Given the description of an element on the screen output the (x, y) to click on. 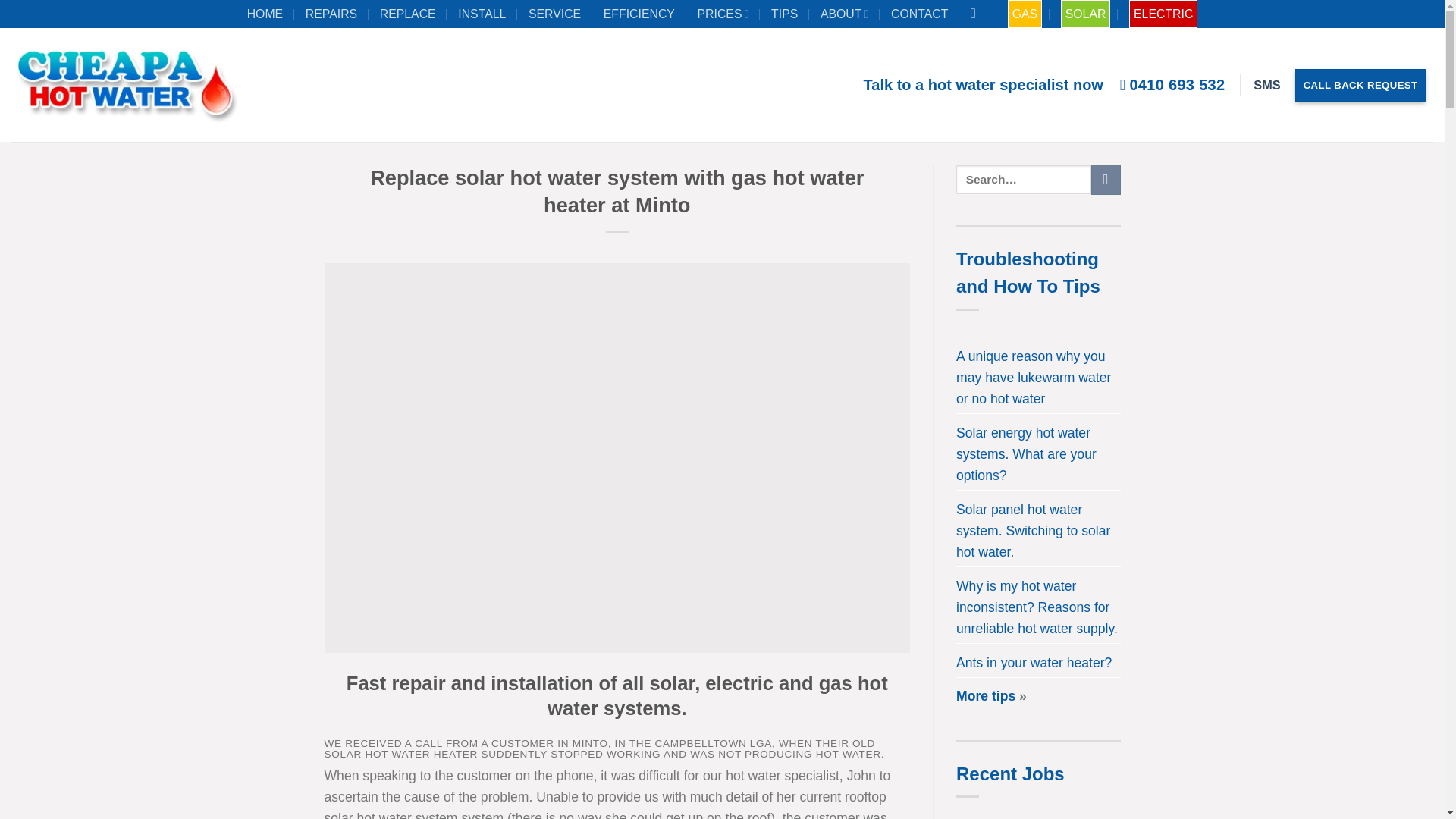
CONTACT (921, 13)
REPLACE (409, 13)
Hot Water Heater Troubleshooting Tips (786, 13)
HOME (266, 13)
Installation and Upgrades (483, 13)
Hot Water Repairs (333, 13)
SOLAR (1085, 13)
PRICES (724, 13)
Home (266, 13)
